Given the description of an element on the screen output the (x, y) to click on. 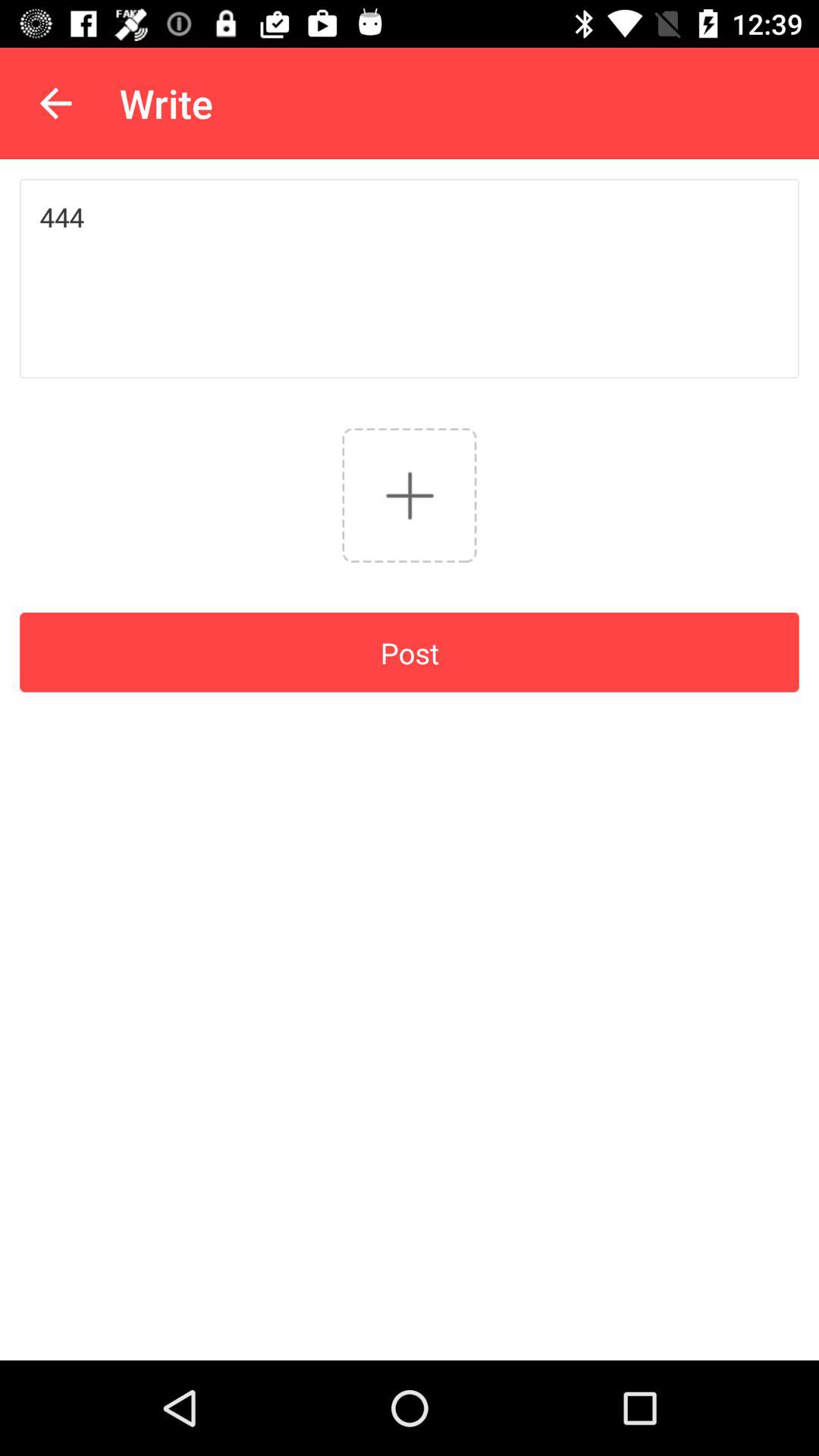
go hide option (409, 495)
